Given the description of an element on the screen output the (x, y) to click on. 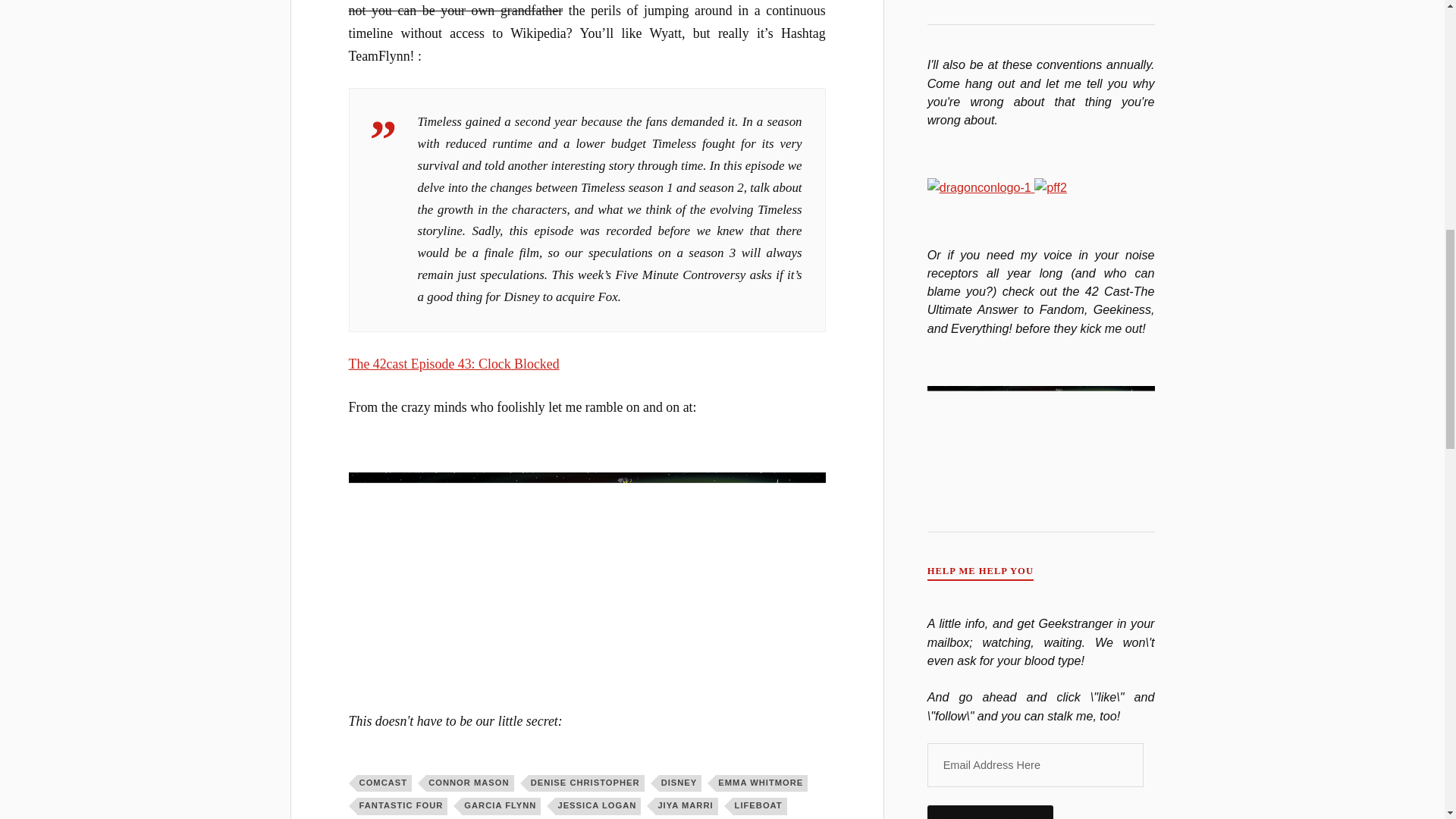
JESSICA LOGAN (597, 805)
JIYA MARRI (686, 805)
COMCAST (384, 782)
GARCIA FLYNN (500, 805)
EMMA WHITMORE (762, 782)
DISNEY (680, 782)
CONNOR MASON (469, 782)
The 42cast Episode 43: Clock Blocked (454, 363)
FANTASTIC FOUR (402, 805)
DENISE CHRISTOPHER (586, 782)
